Given the description of an element on the screen output the (x, y) to click on. 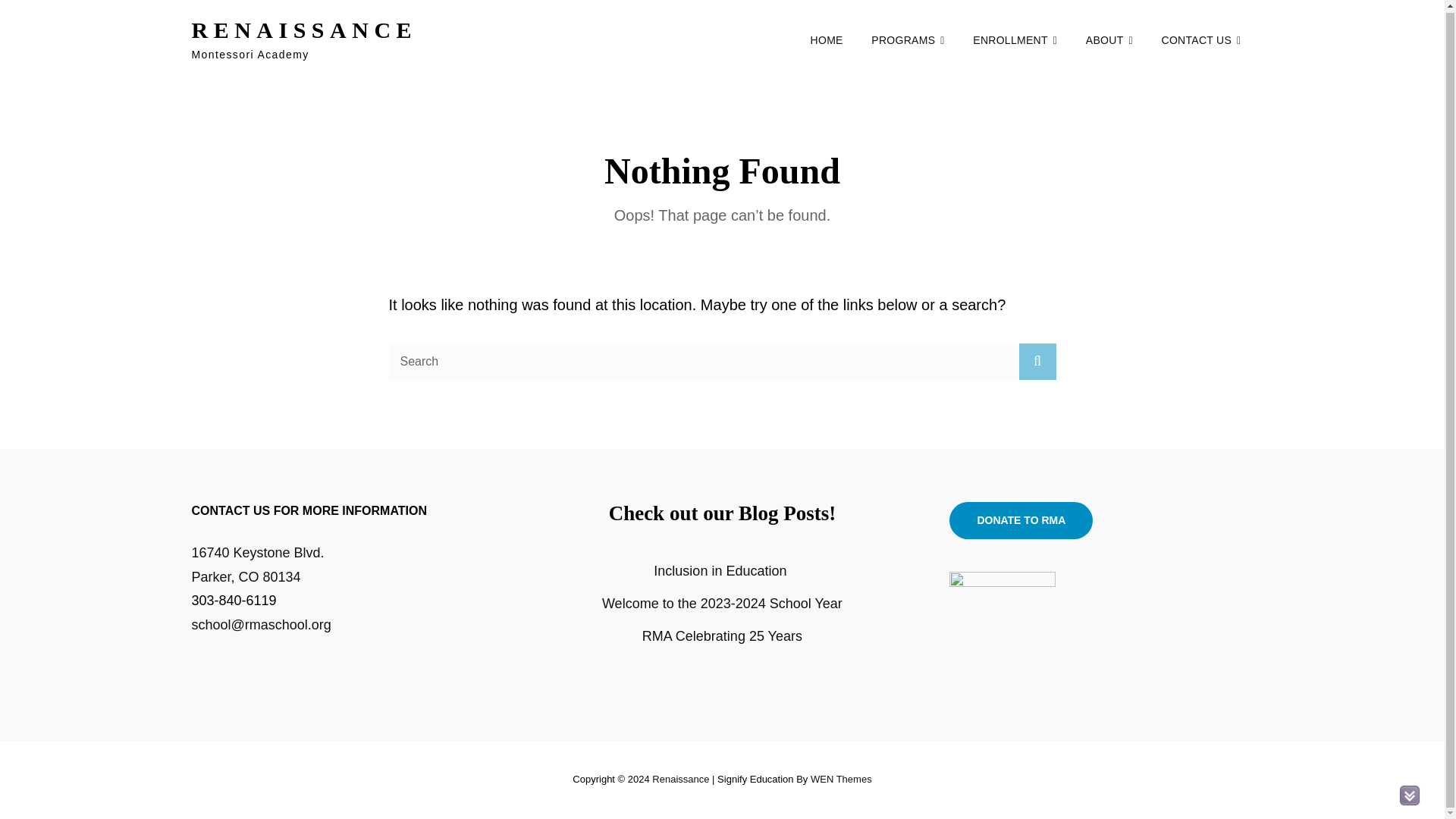
Welcome to the 2023-2024 School Year (722, 603)
DONATE TO RMA (1021, 520)
RENAISSANCE (303, 29)
Search (1038, 361)
HOME (826, 39)
Inclusion in Education  (721, 570)
PROGRAMS (907, 39)
CONTACT US (1200, 39)
RMA Celebrating 25 Years (722, 635)
ABOUT (256, 564)
ENROLLMENT (1109, 39)
